Given the description of an element on the screen output the (x, y) to click on. 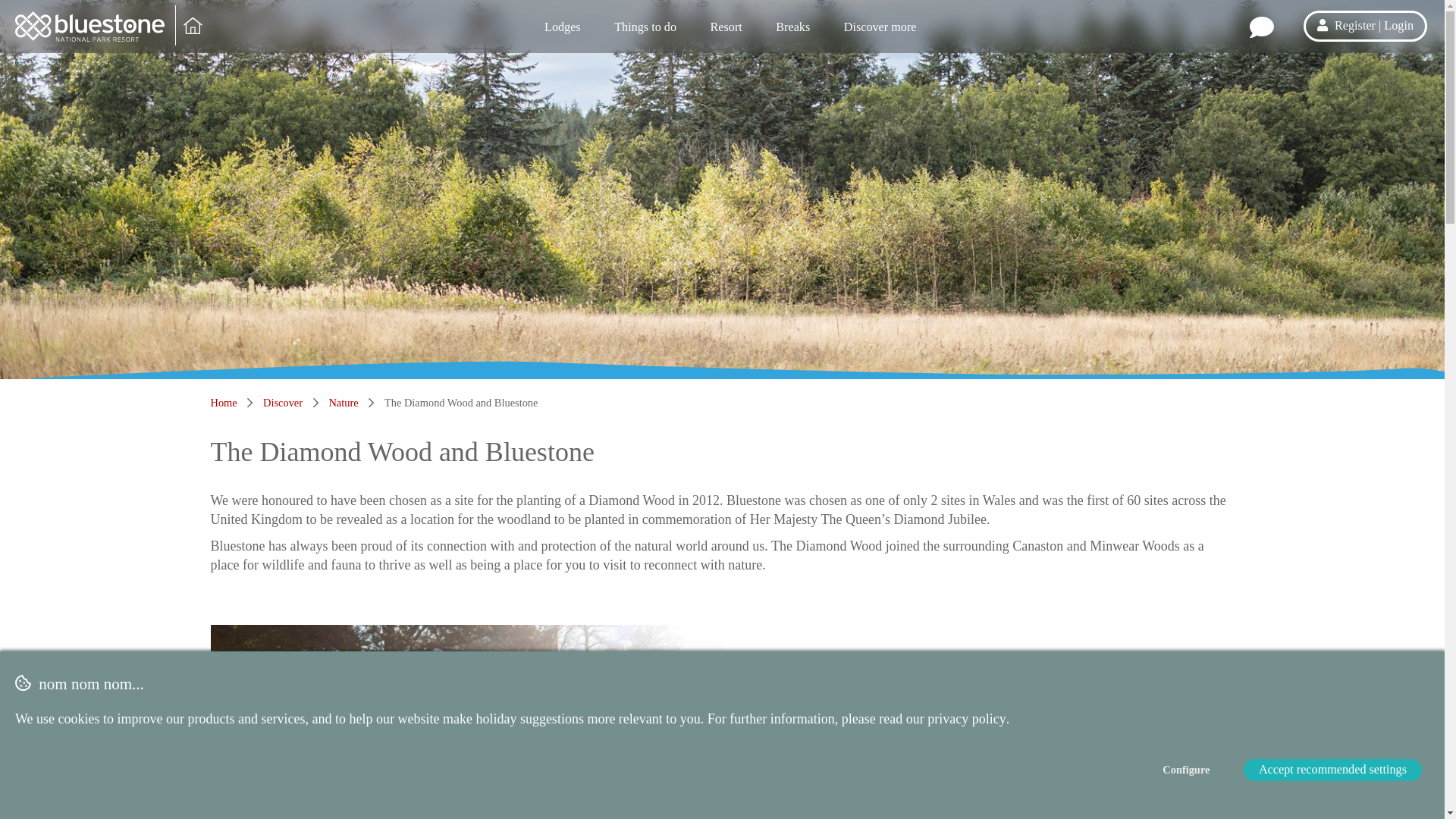
Accept recommended settings (1332, 770)
Nature (343, 402)
Accept recommended settings (1332, 770)
Discover (282, 402)
privacy policy (966, 718)
Home (224, 402)
